Given the description of an element on the screen output the (x, y) to click on. 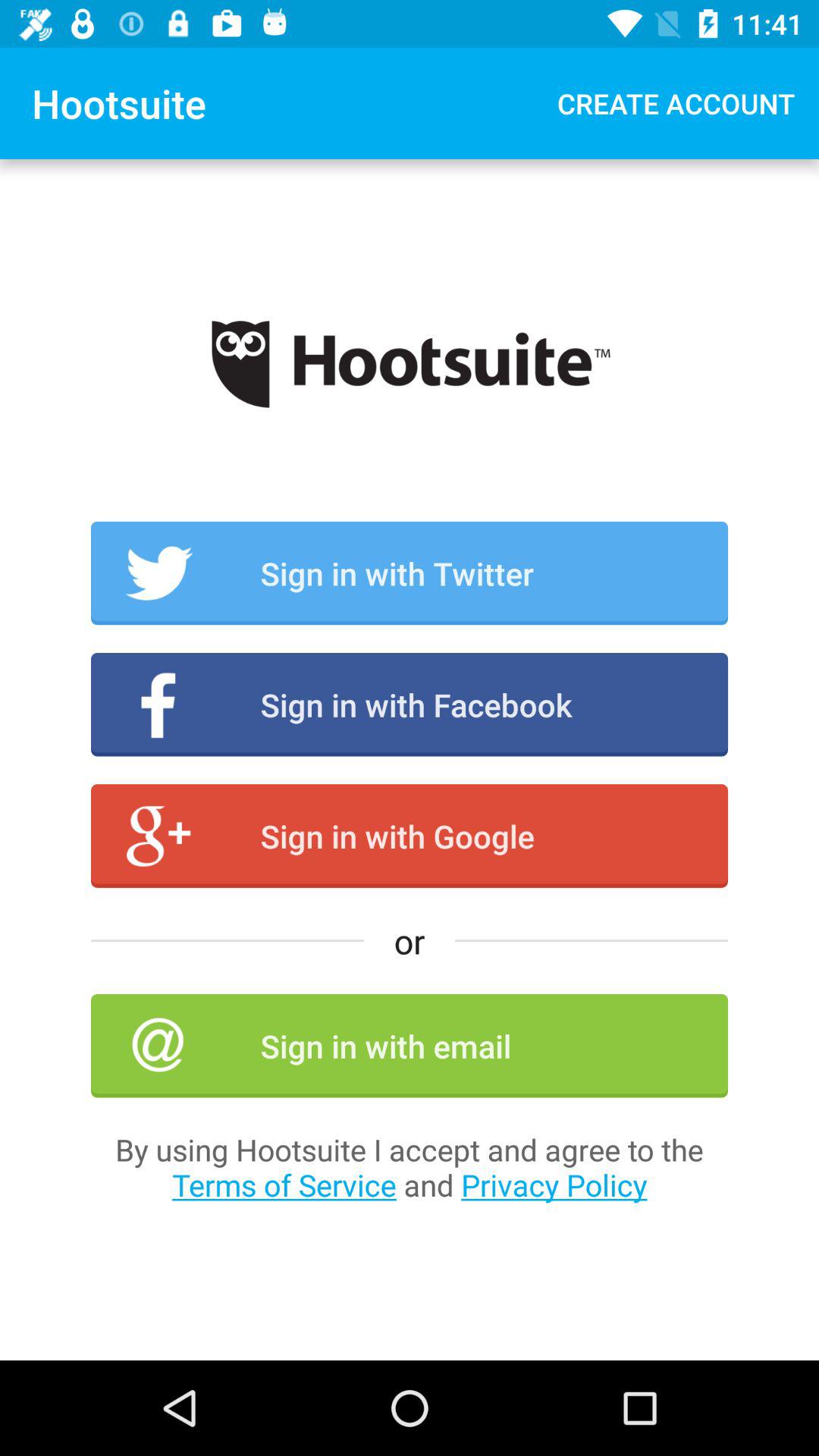
turn off the item at the top right corner (676, 103)
